Given the description of an element on the screen output the (x, y) to click on. 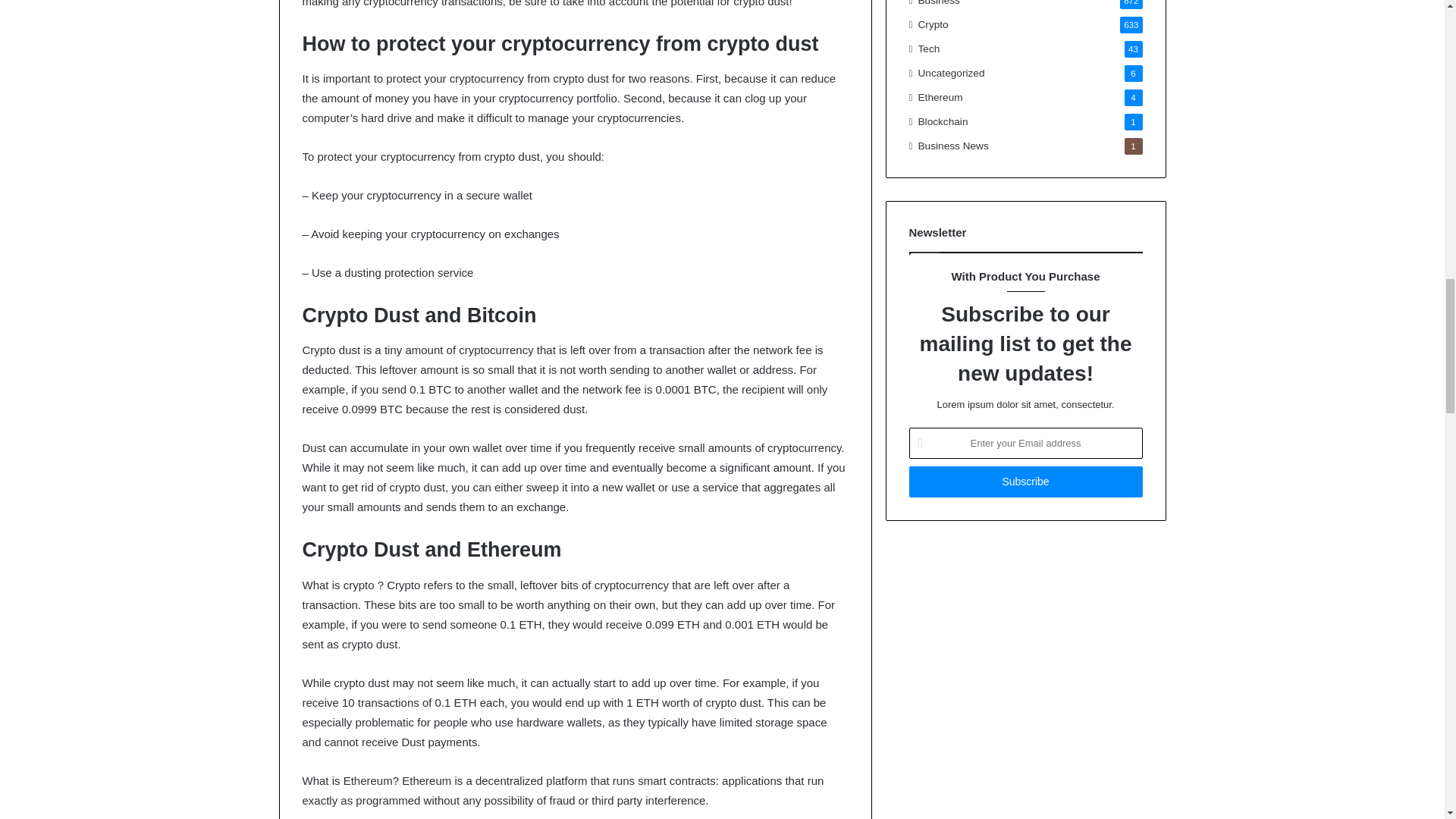
Subscribe (1025, 481)
